Given the description of an element on the screen output the (x, y) to click on. 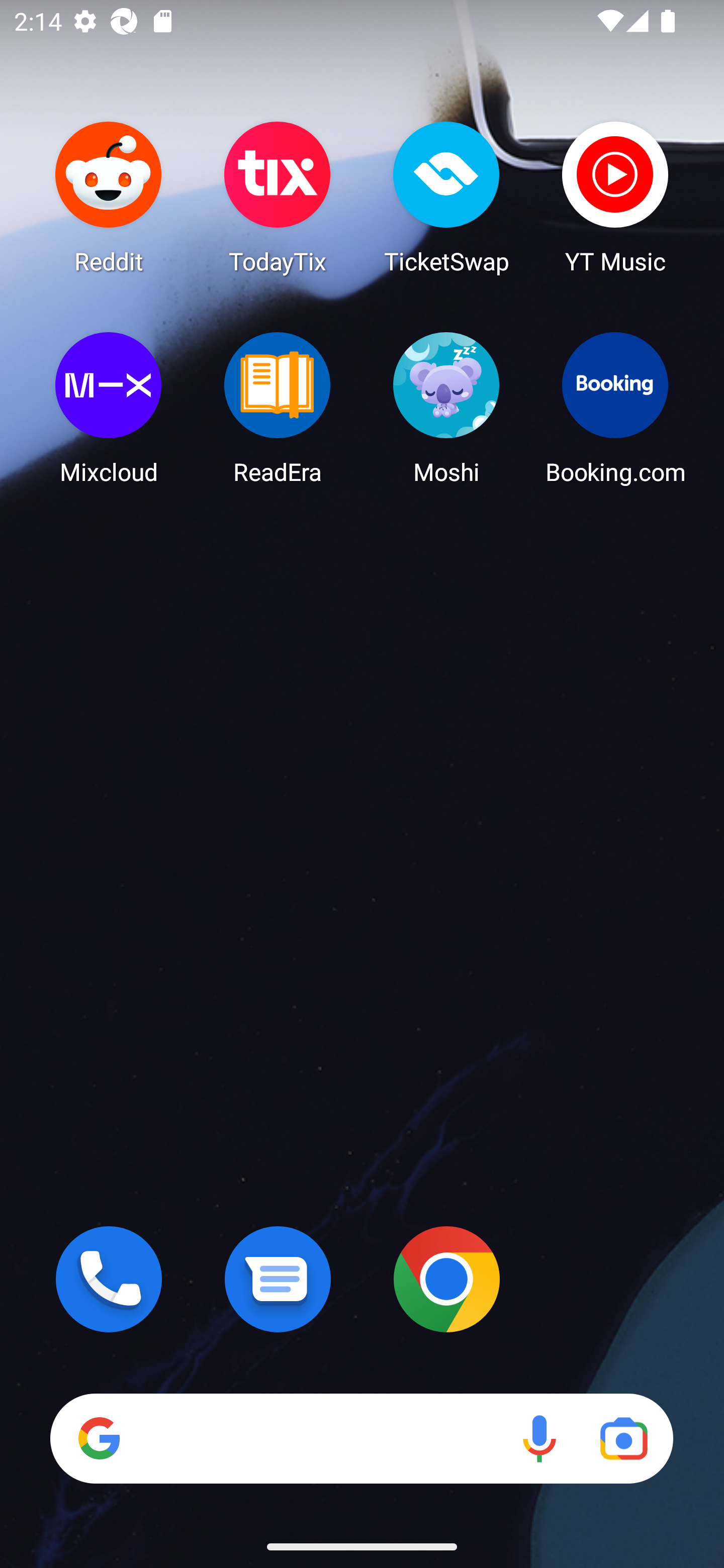
Reddit (108, 196)
TodayTix (277, 196)
TicketSwap (445, 196)
YT Music (615, 196)
Mixcloud (108, 407)
ReadEra (277, 407)
Moshi (445, 407)
Booking.com (615, 407)
Phone (108, 1279)
Messages (277, 1279)
Chrome (446, 1279)
Search Voice search Google Lens (361, 1438)
Voice search (539, 1438)
Google Lens (623, 1438)
